Given the description of an element on the screen output the (x, y) to click on. 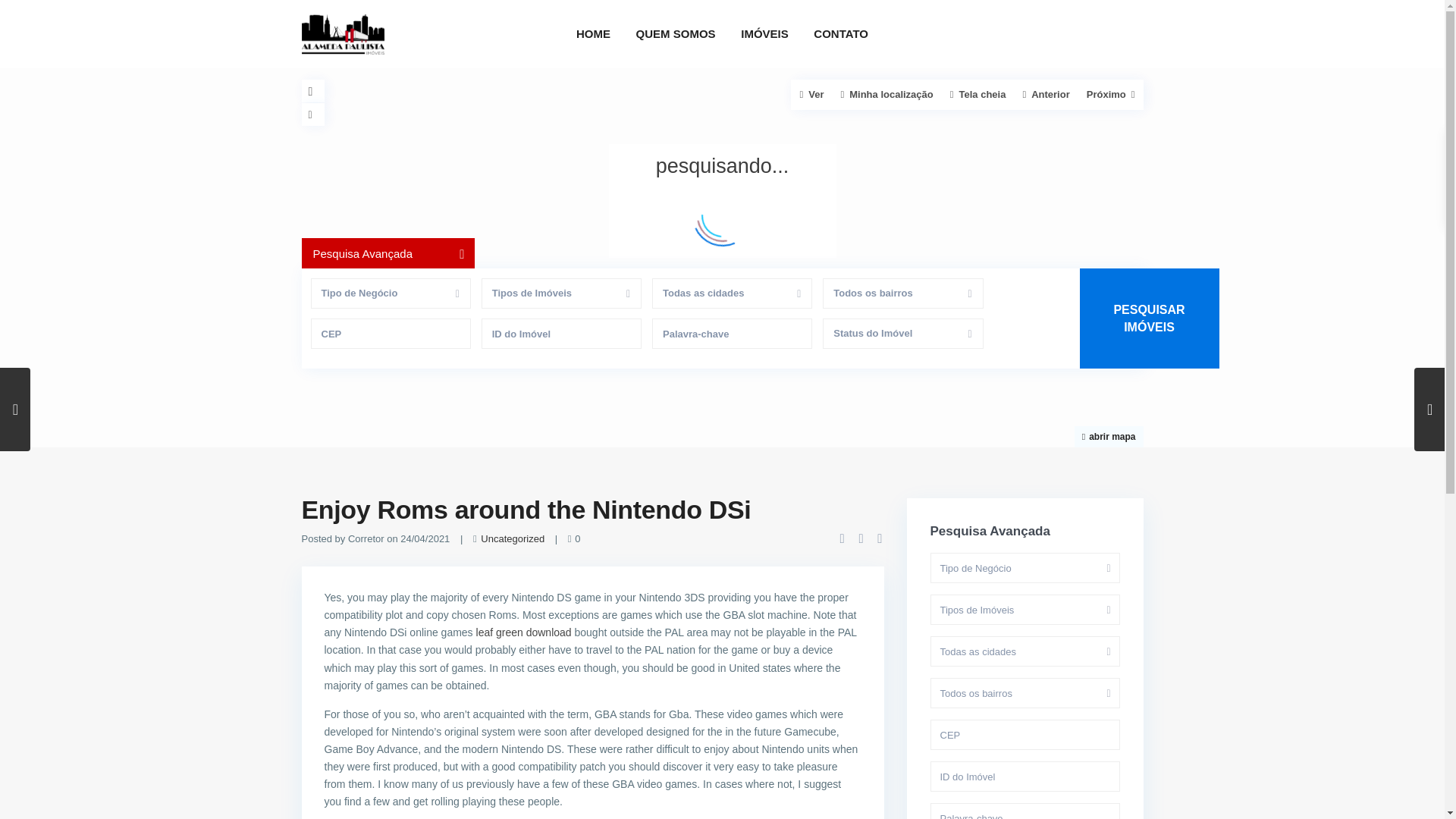
QUEM SOMOS (675, 33)
Uncategorized (512, 538)
CONTATO (840, 33)
leaf green download (524, 632)
